Given the description of an element on the screen output the (x, y) to click on. 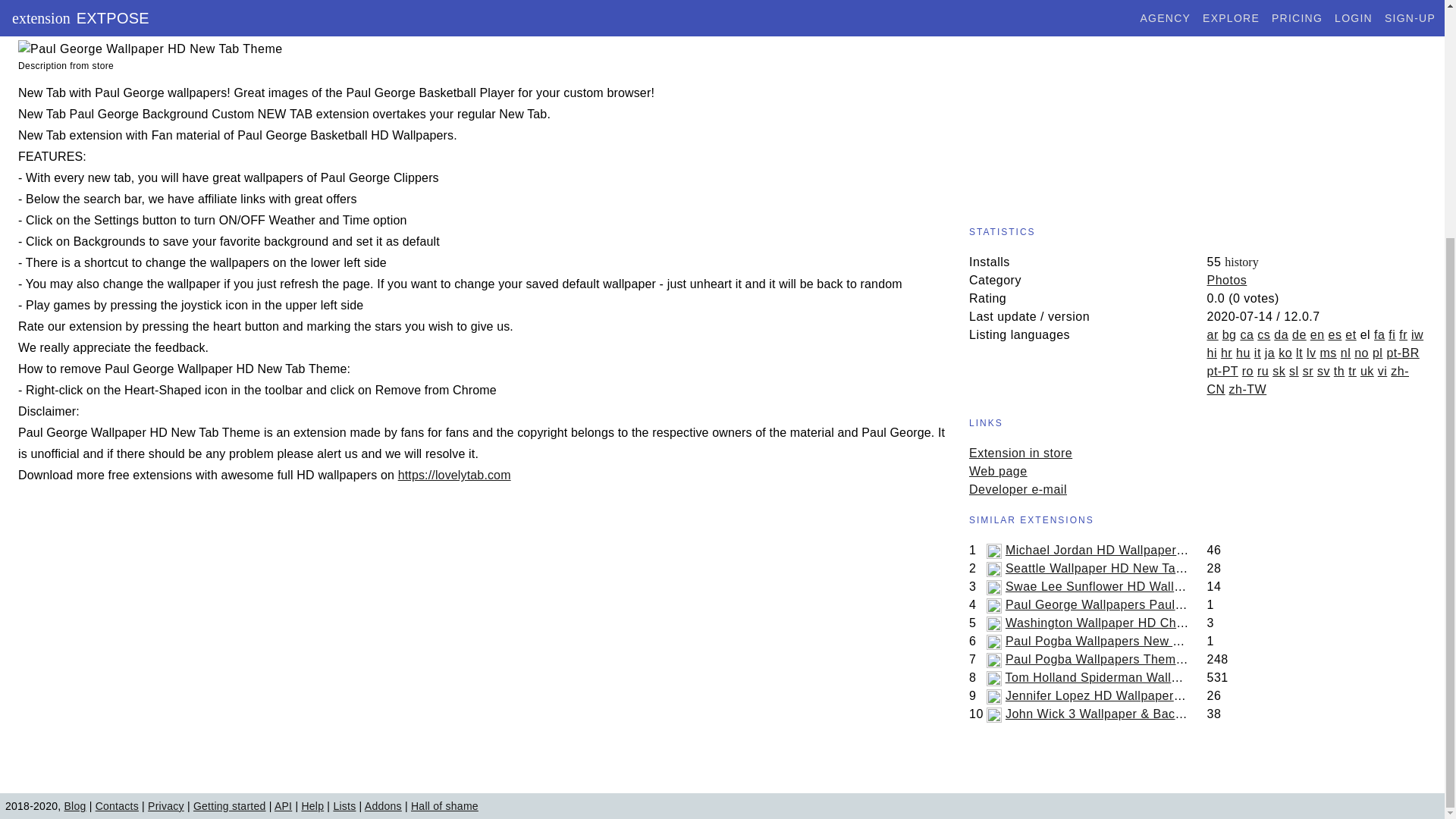
no (1361, 352)
ko (1285, 352)
de (1299, 334)
iw (1416, 334)
Advertisement (1197, 105)
en (1317, 334)
da (1281, 334)
cs (1263, 334)
hu (1243, 352)
ms (1328, 352)
Photos (1227, 279)
es (1334, 334)
bg (1229, 334)
history (1240, 261)
ca (1246, 334)
